Given the description of an element on the screen output the (x, y) to click on. 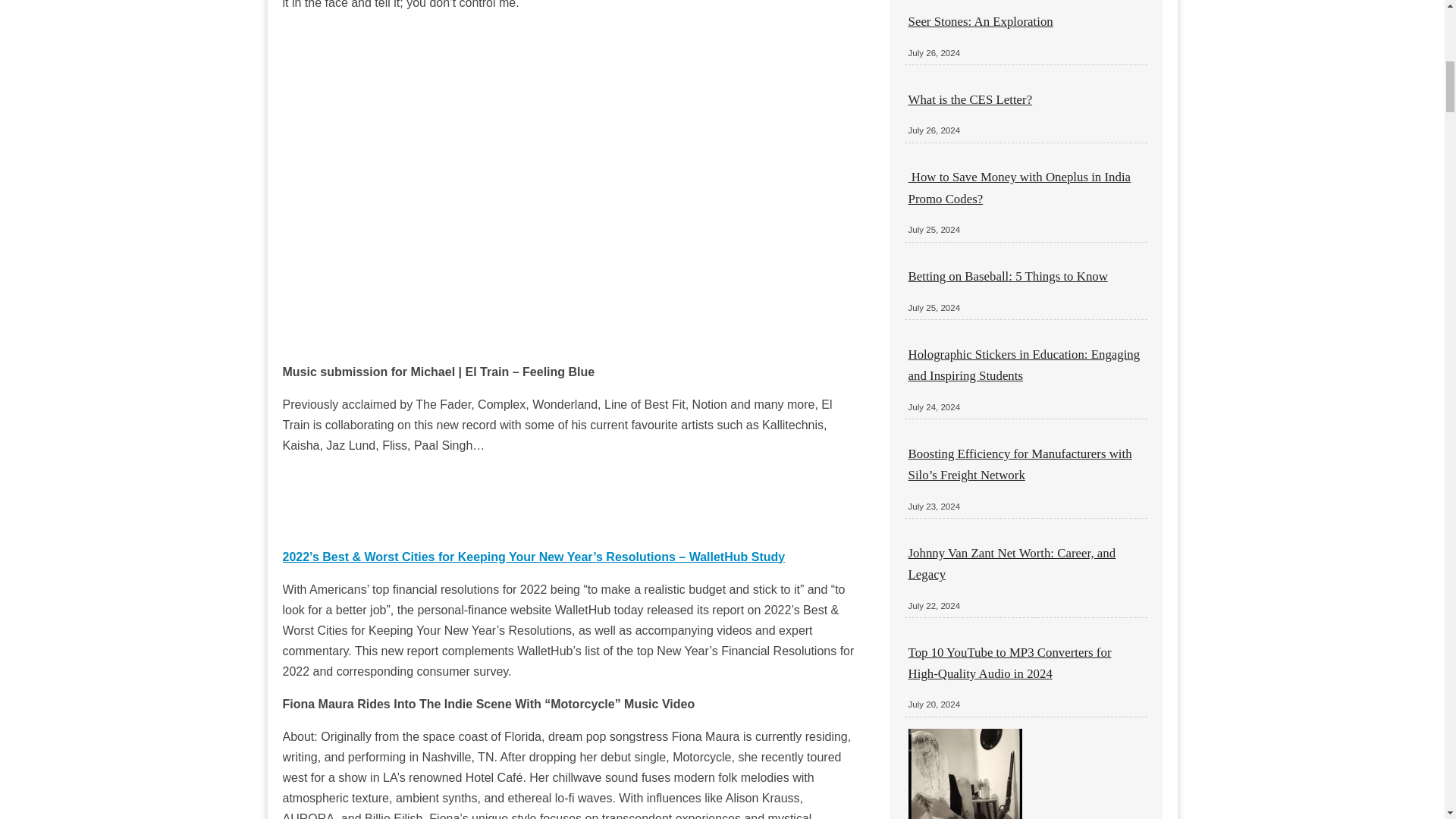
Seer Stones: An Exploration (980, 21)
 How to Save Money with Oneplus in India Promo Codes? (1019, 187)
Spotify Embed: Feeling Blue (570, 497)
Johnny Van Zant Net Worth: Career, and Legacy (1012, 563)
What is the CES Letter? (970, 99)
Betting on Baseball: 5 Things to Know (1008, 276)
